Given the description of an element on the screen output the (x, y) to click on. 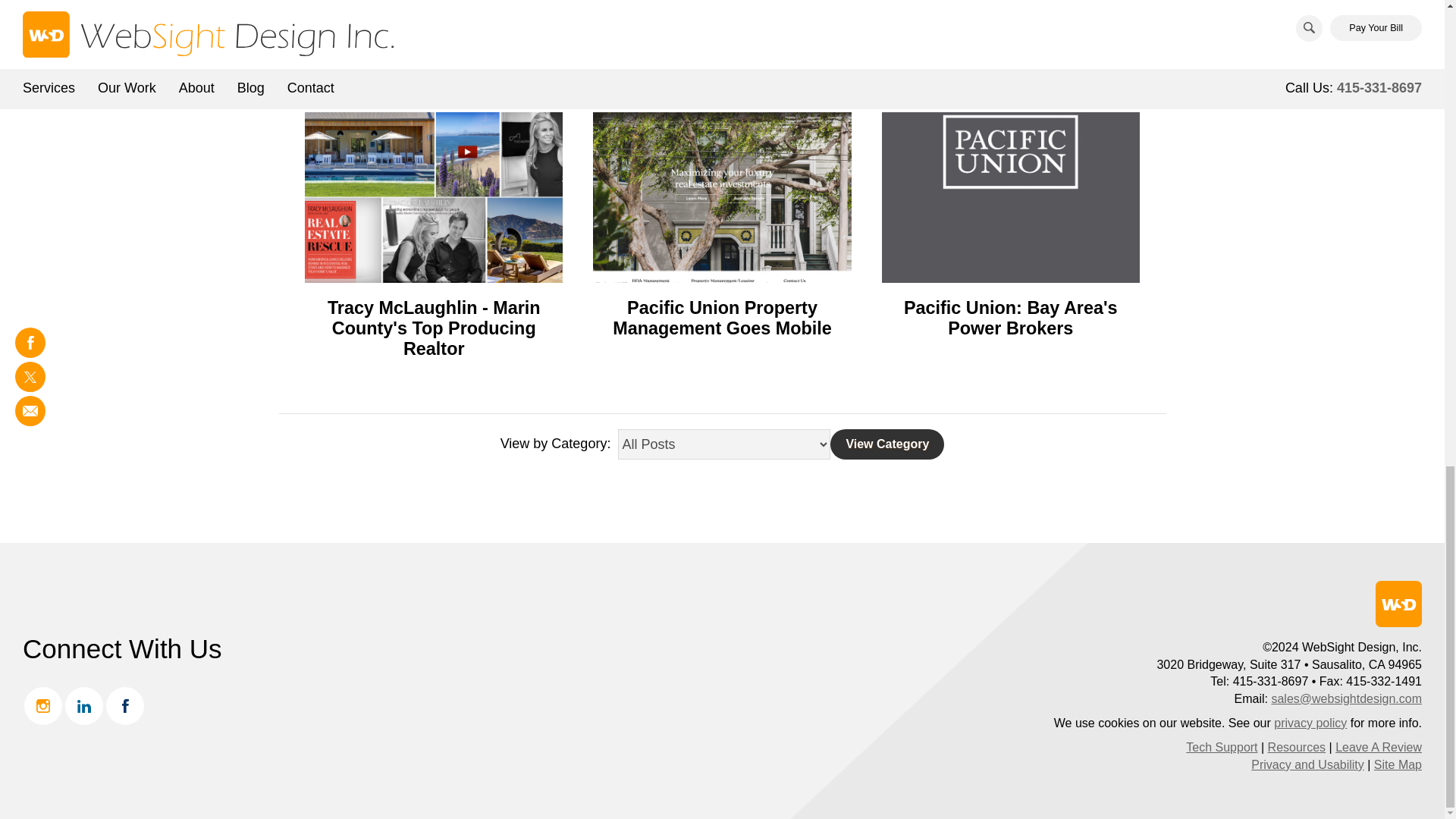
Facebook - Opens in a new window (125, 705)
Pacific Union Property Management Goes Mobile (721, 318)
Instagram - Opens in a new window (43, 705)
Tracy McLaughlin - Marin County's Top Producing Realtor (433, 328)
LinkedIn - Opens in a new window (84, 705)
View Category (886, 444)
Pacific Union logo (1011, 197)
Tracy McLaughlin (433, 197)
Blog Post Categories (723, 444)
Review - Opens in a new window (1378, 747)
